Given the description of an element on the screen output the (x, y) to click on. 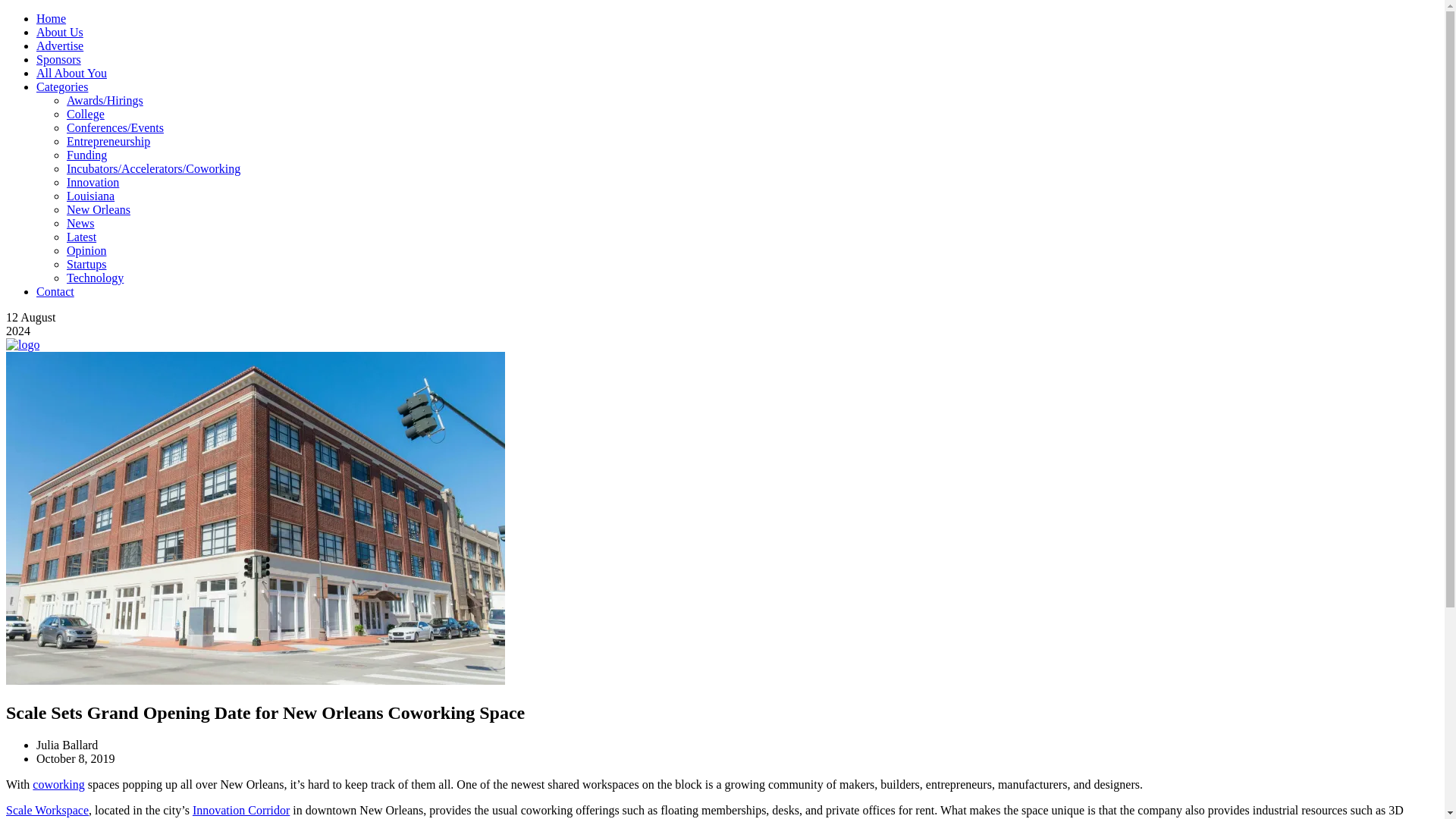
Latest (81, 236)
Innovation (92, 182)
Home (50, 18)
All About You (71, 72)
Innovation Corridor (240, 809)
About Us (59, 31)
Advertise (59, 45)
Startups (86, 264)
Technology (94, 277)
Louisiana (90, 195)
